Given the description of an element on the screen output the (x, y) to click on. 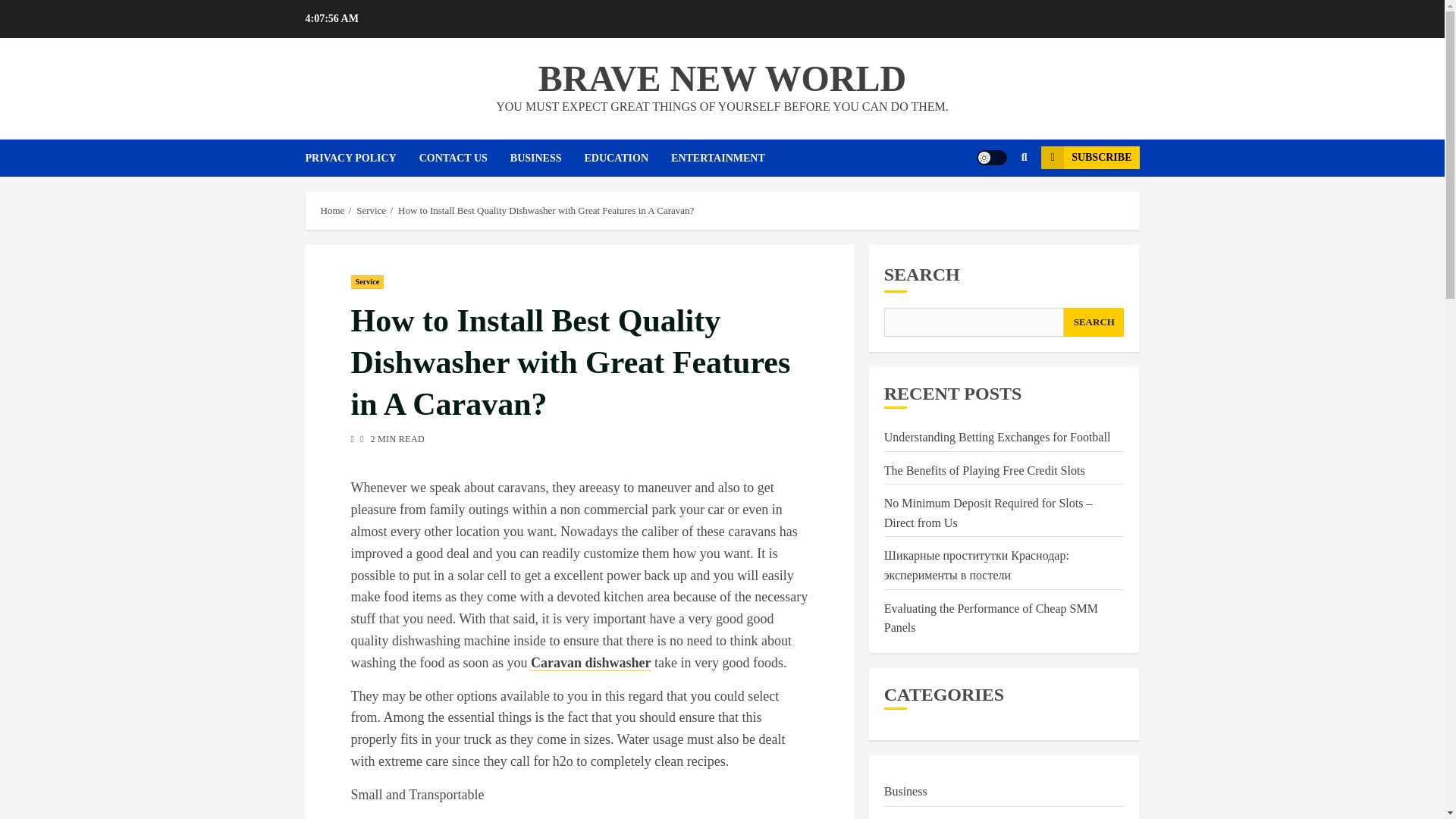
PRIVACY POLICY (361, 157)
Search (994, 203)
EDUCATION (628, 157)
Caravan dishwasher (590, 662)
CONTACT US (465, 157)
SEARCH (1094, 321)
BRAVE NEW WORLD (721, 78)
The Benefits of Playing Free Credit Slots (983, 470)
Business (905, 792)
ENTERTAINMENT (729, 157)
Home (331, 210)
Service (370, 210)
Evaluating the Performance of Cheap SMM Panels (990, 618)
Education (908, 817)
Service (367, 282)
